Given the description of an element on the screen output the (x, y) to click on. 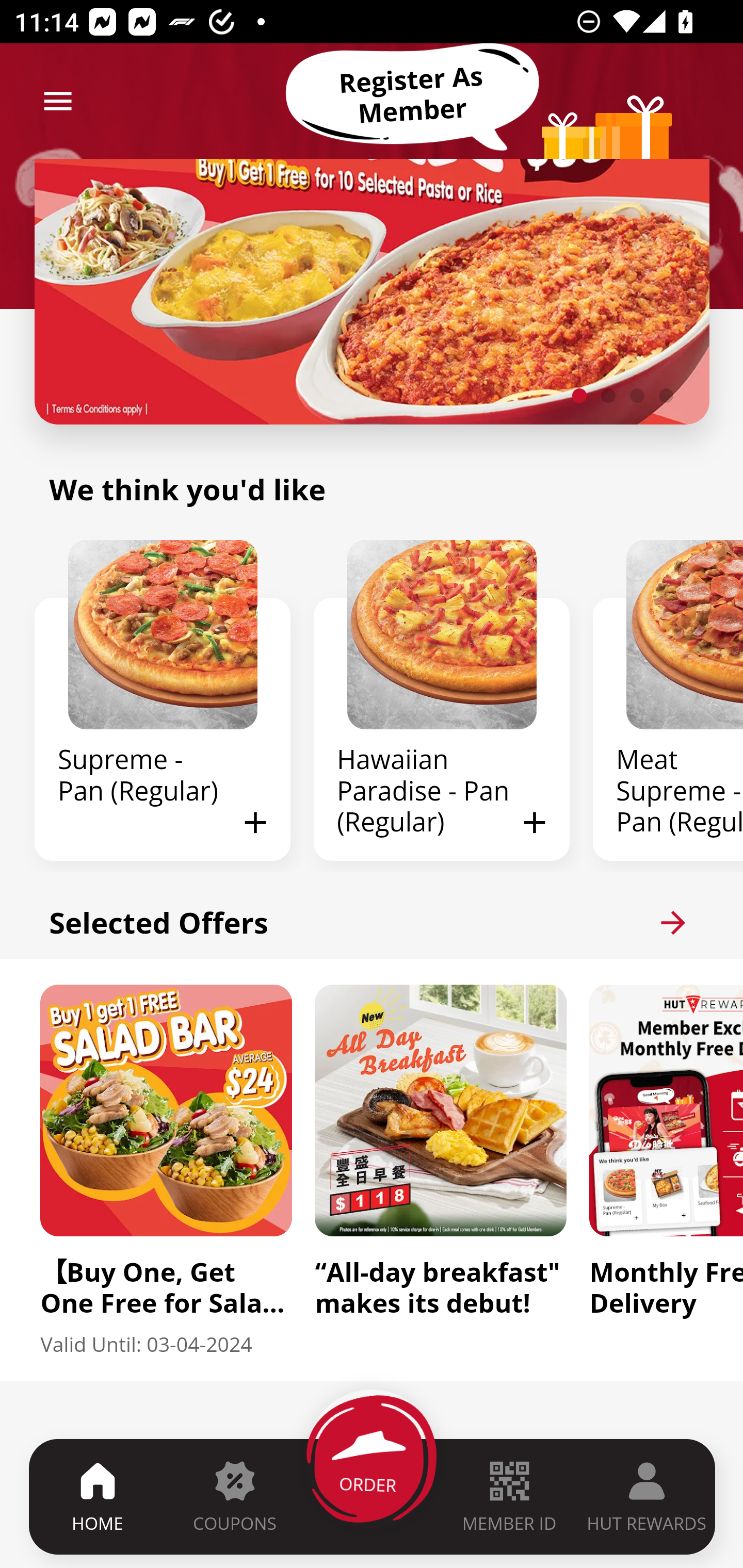
Register As Member (411, 95)
menu (58, 100)
arrow_forward (672, 922)
HOME (97, 1496)
COUPONS (234, 1496)
ORDER (372, 1496)
MEMBER ID (509, 1496)
HUT REWARDS (647, 1496)
